Given the description of an element on the screen output the (x, y) to click on. 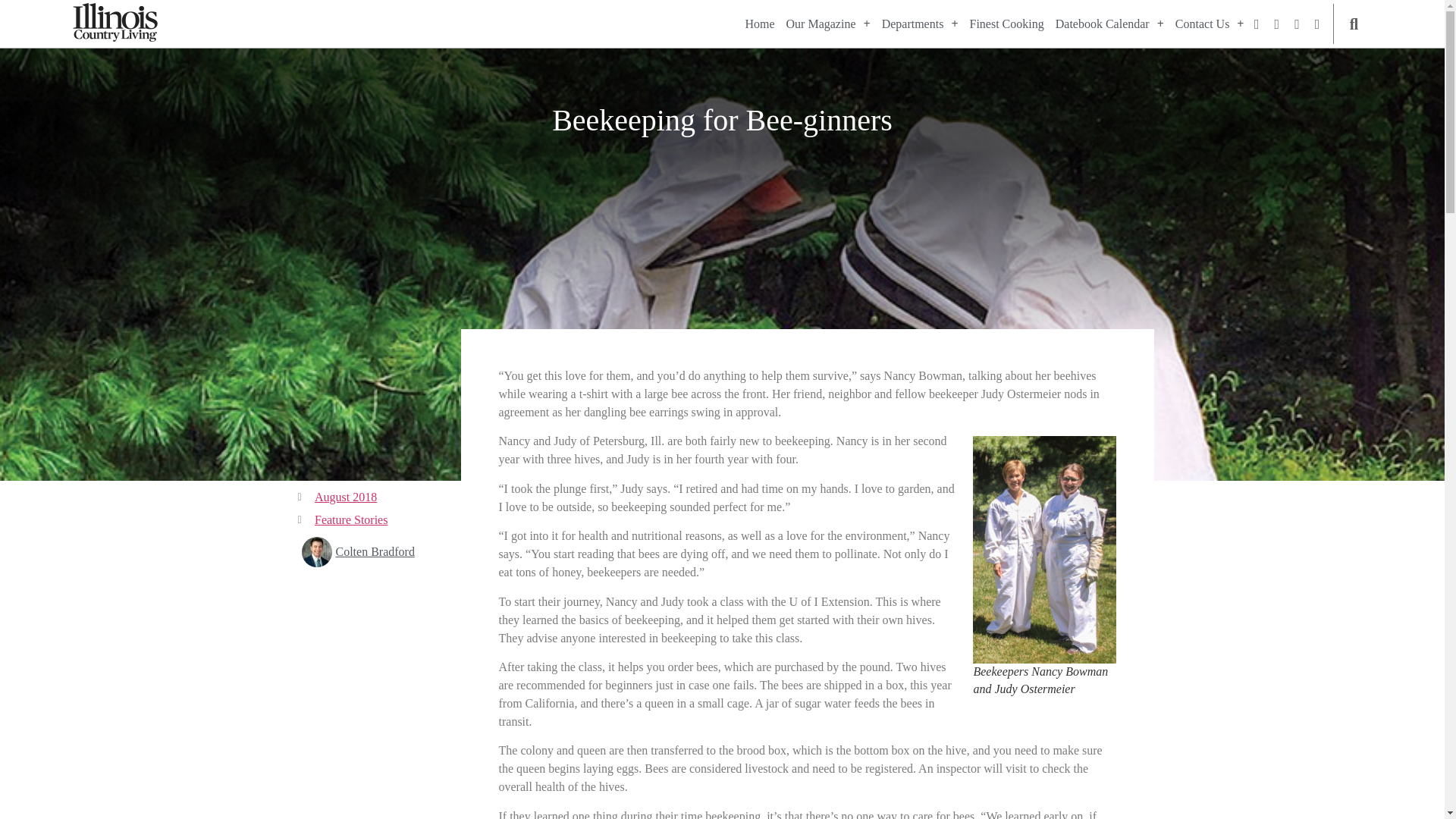
Home (758, 24)
ICL-logo-blk (114, 22)
Finest Cooking (1005, 24)
colten-2023 (316, 552)
Departments (919, 24)
Our Magazine (828, 24)
Datebook Calendar (1110, 24)
Contact Us (1209, 24)
